Given the description of an element on the screen output the (x, y) to click on. 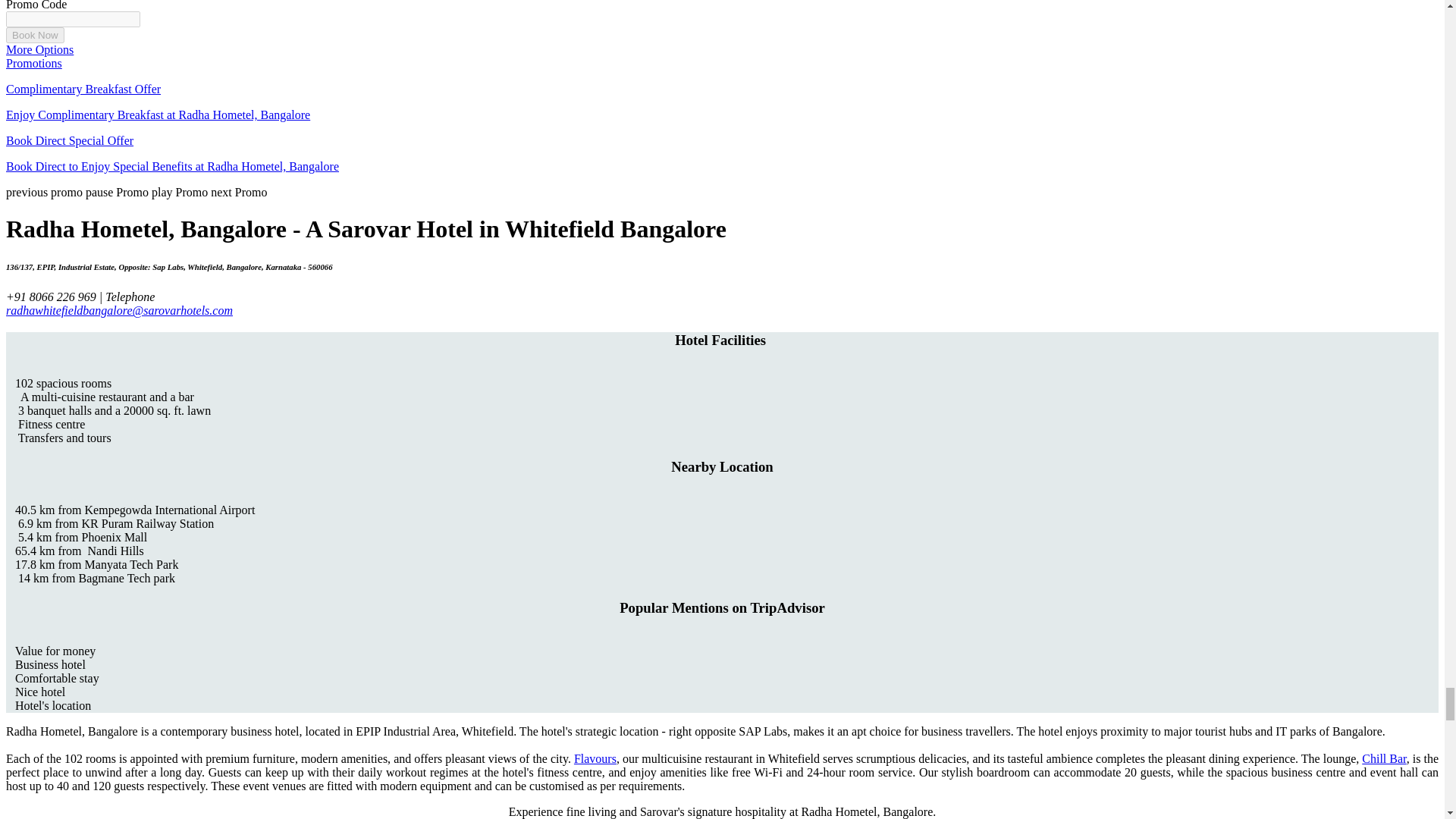
Book Now (34, 35)
